Given the description of an element on the screen output the (x, y) to click on. 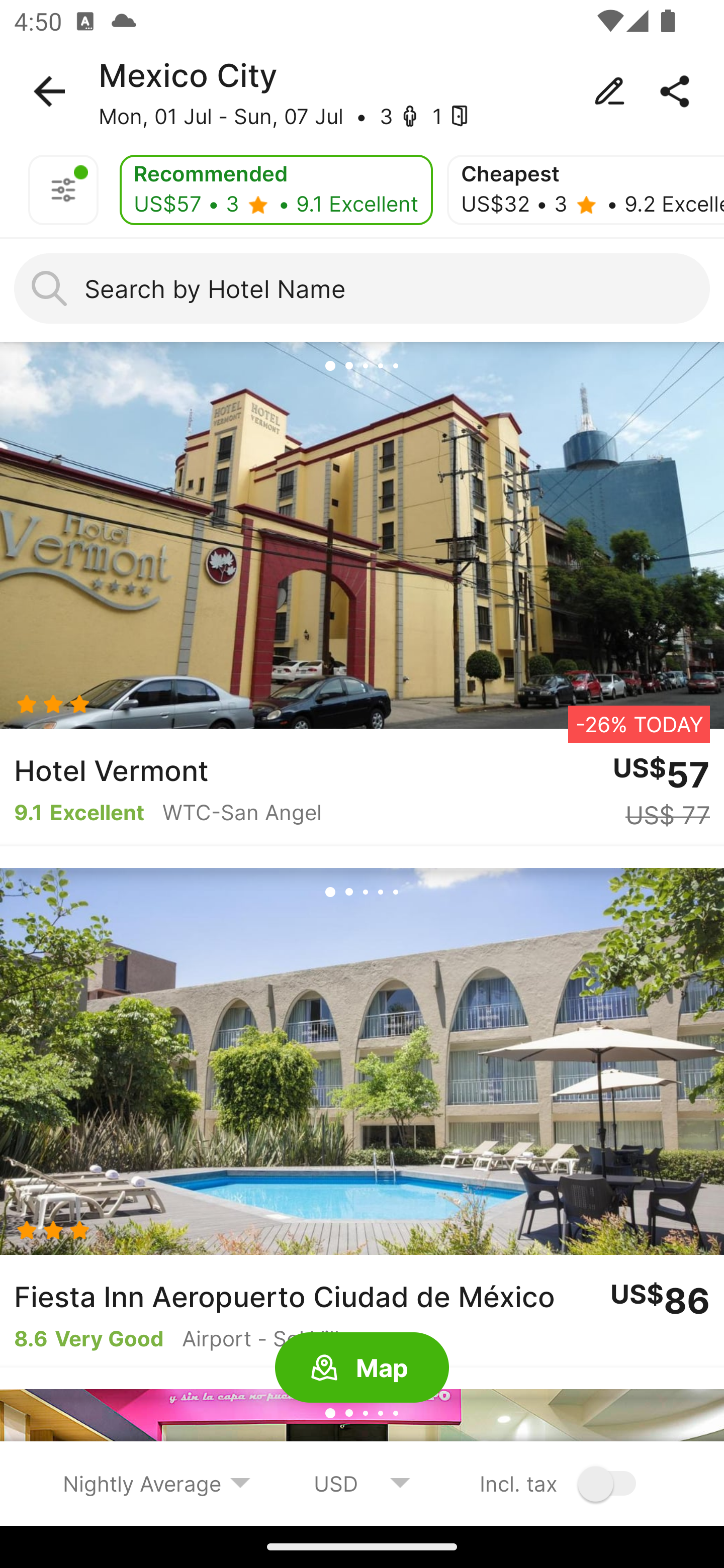
Mexico City Mon, 01 Jul - Sun, 07 Jul  •  3 -  1 - (361, 91)
Recommended  US$57  • 3 - • 9.1 Excellent (275, 190)
Cheapest US$32  • 3 - • 9.2 Excellent (585, 190)
Search by Hotel Name  (361, 288)
Map  (361, 1367)
Nightly Average (156, 1482)
USD (361, 1482)
